Given the description of an element on the screen output the (x, y) to click on. 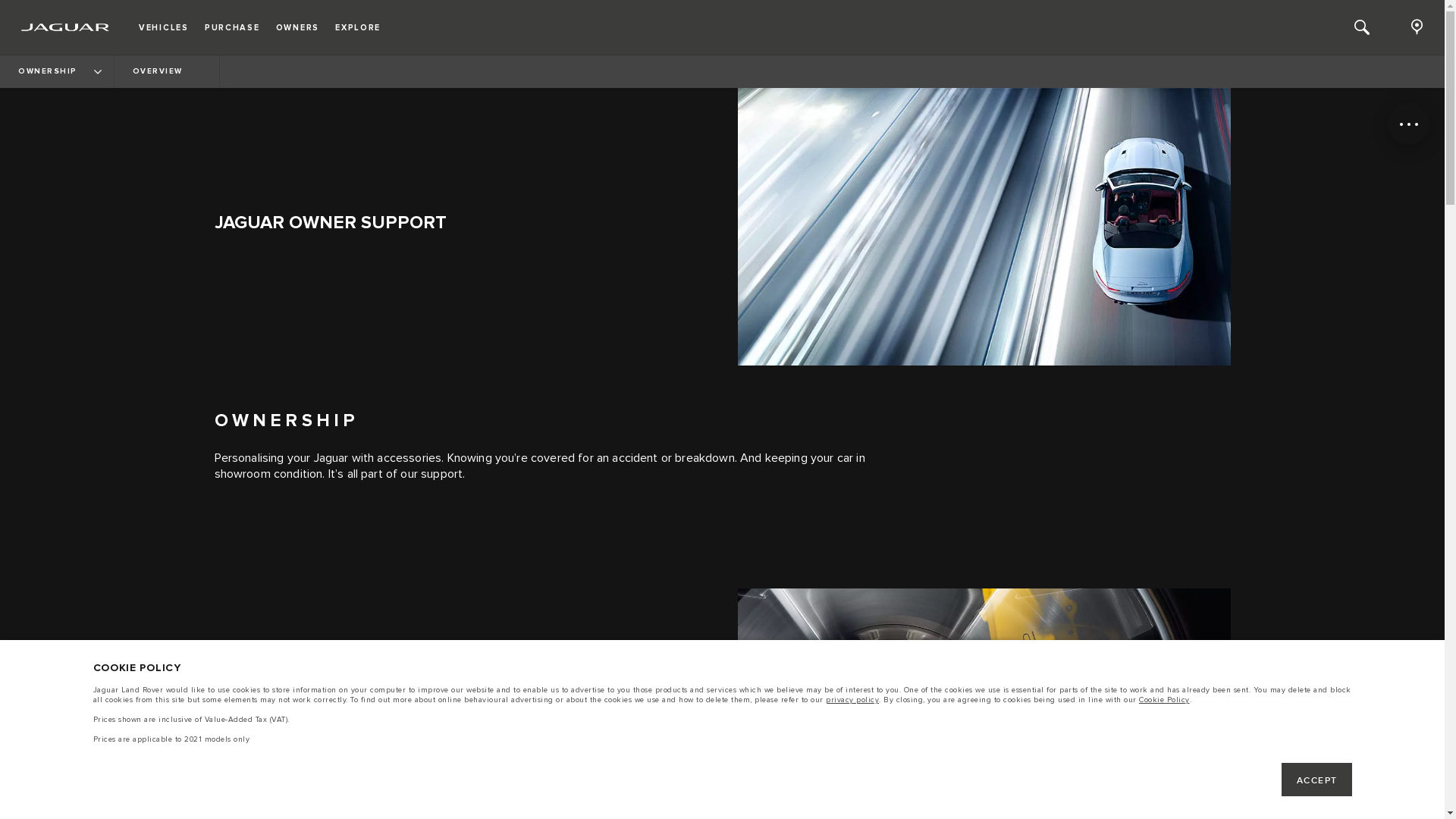
Cookie Policy Element type: text (1164, 700)
privacy policy Element type: text (851, 700)
VEHICLES Element type: text (163, 27)
BOOK A SERVICE Element type: text (283, 763)
OWNERS Element type: text (297, 27)
EXPLORE Element type: text (357, 27)
PURCHASE Element type: text (232, 27)
ACCEPT Element type: text (1316, 779)
